Given the description of an element on the screen output the (x, y) to click on. 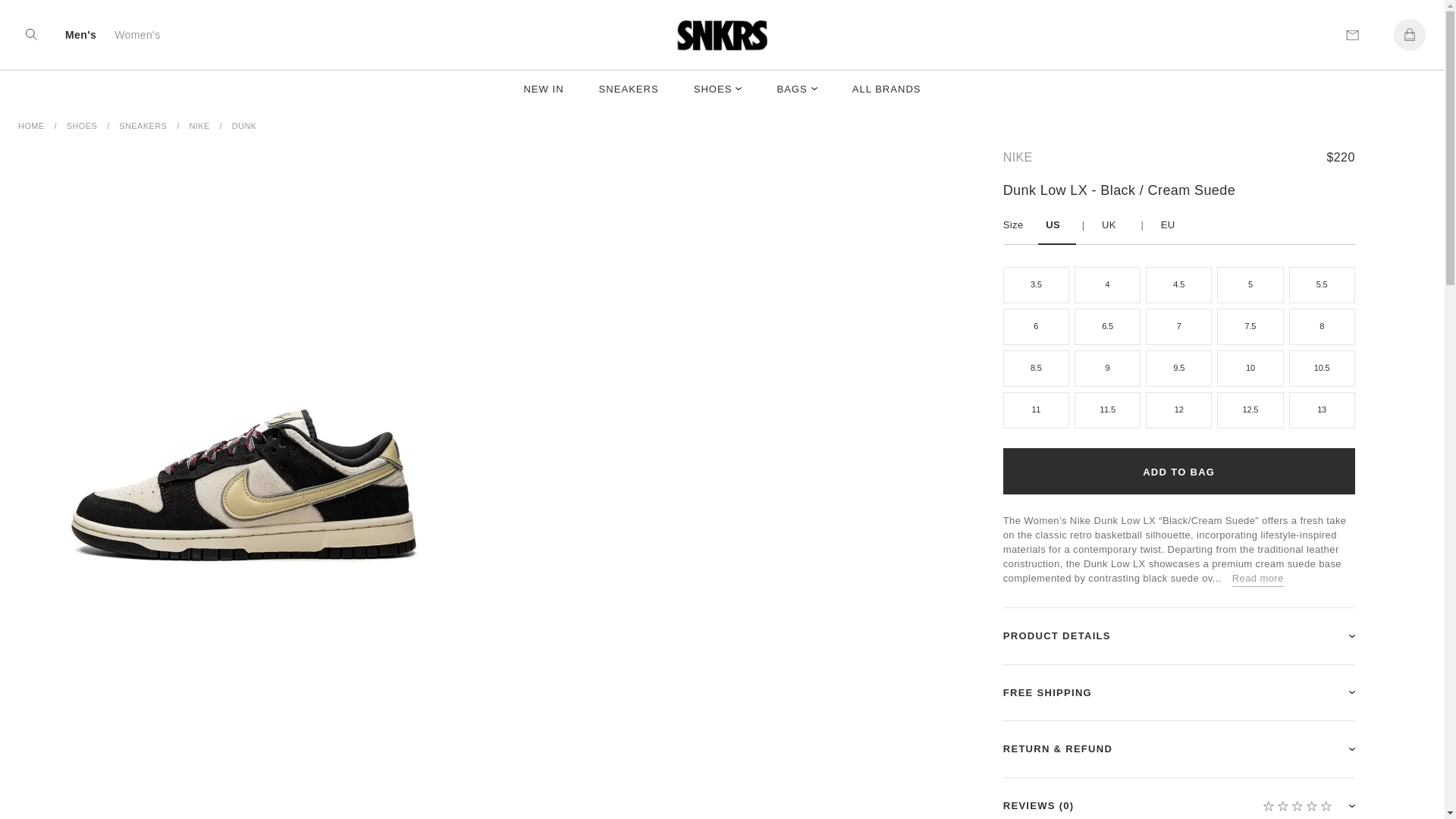
Contact us (1352, 34)
Men's (80, 34)
Women's (137, 34)
Men's (80, 34)
Nike (1017, 157)
Nike (199, 125)
Bag (1409, 34)
NEW IN (542, 89)
BAGS (796, 89)
SHOES (718, 89)
0 (1409, 34)
Back to the frontpage (31, 125)
0 (30, 34)
0 (1296, 807)
Women's (137, 34)
